Given the description of an element on the screen output the (x, y) to click on. 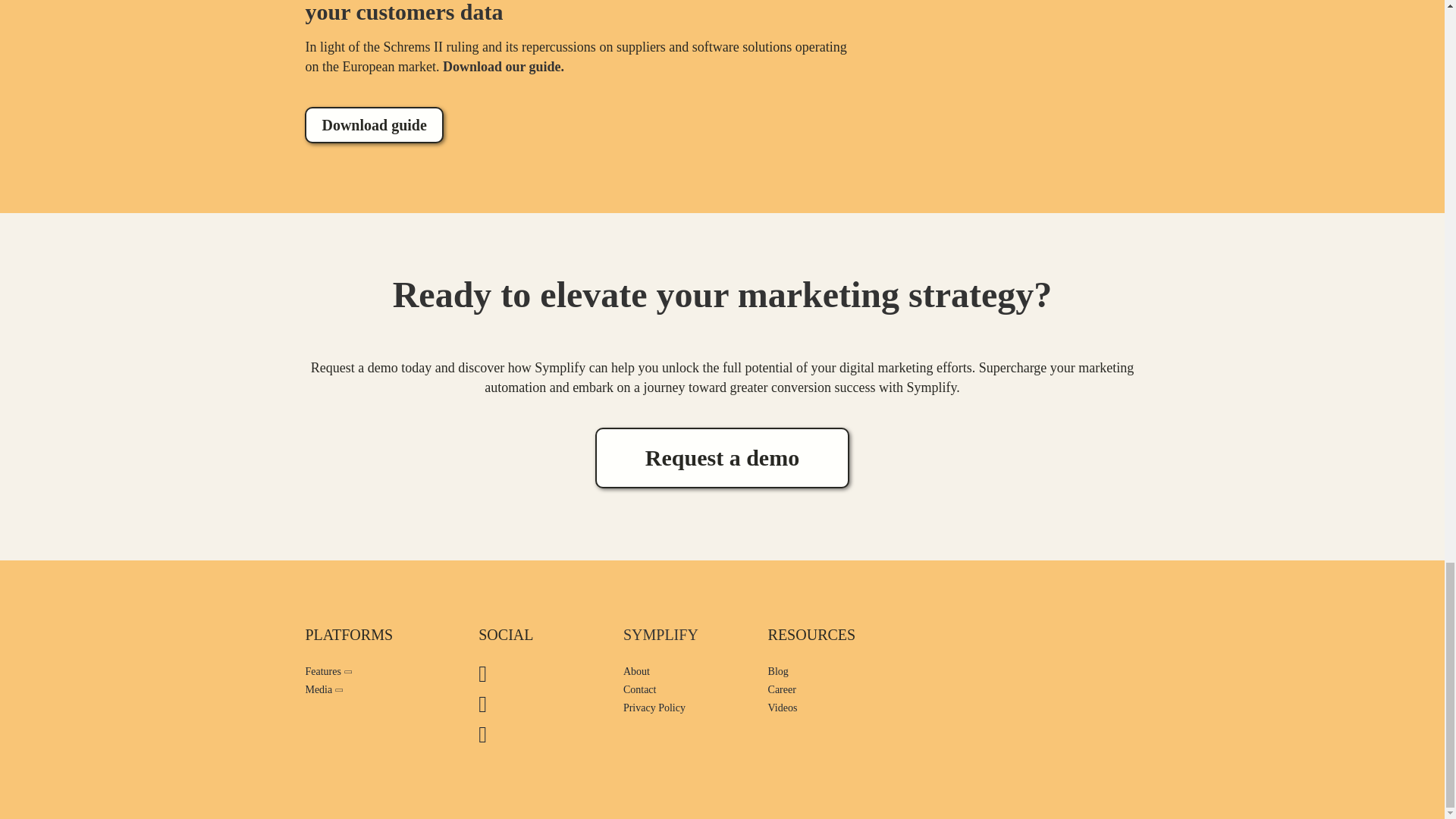
Download our guide.  (504, 66)
Download guide (373, 125)
Features (374, 671)
Media (374, 689)
Request a demo (721, 457)
